Given the description of an element on the screen output the (x, y) to click on. 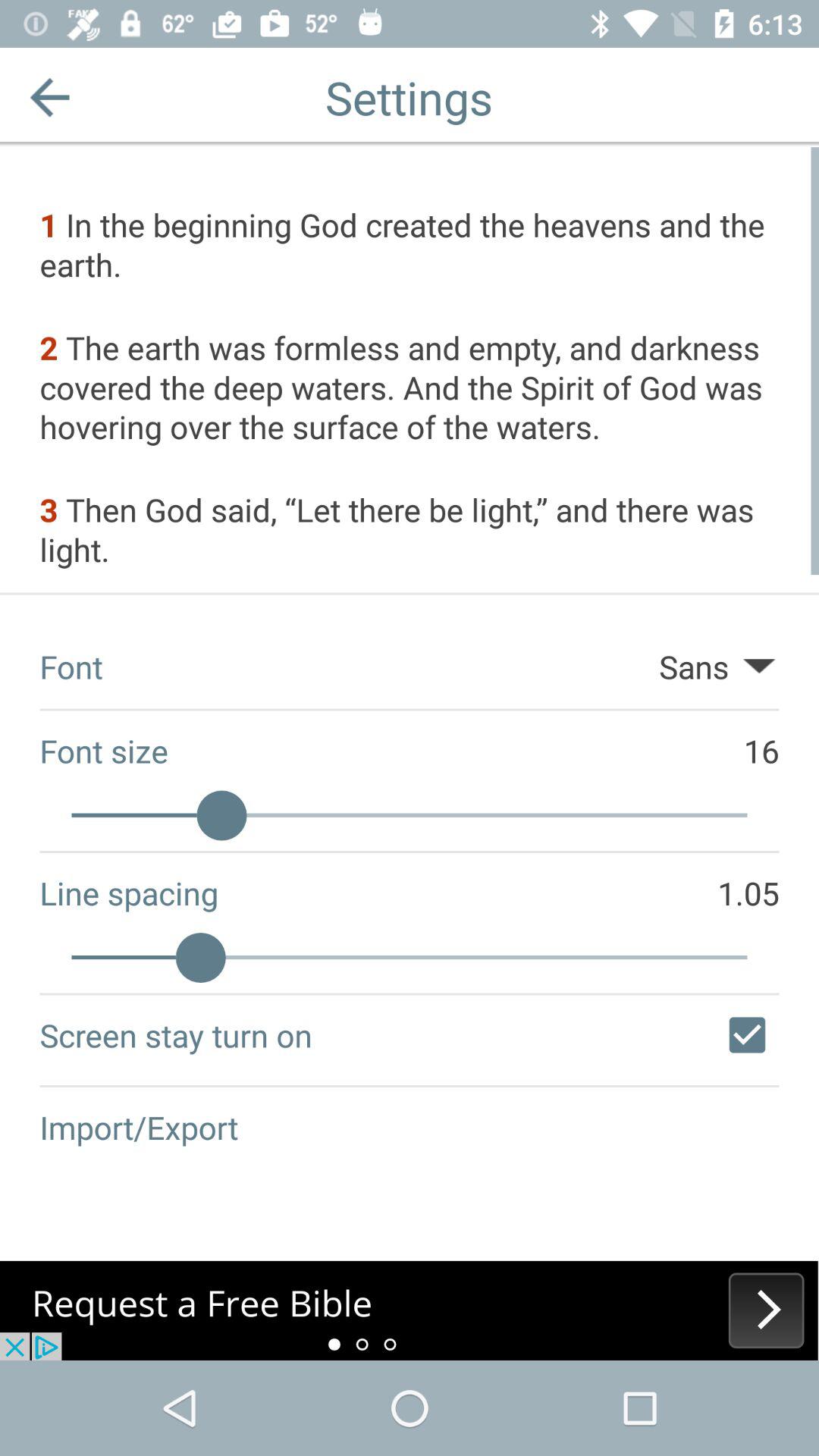
toggle screen stay turned on off or on (747, 1034)
